Given the description of an element on the screen output the (x, y) to click on. 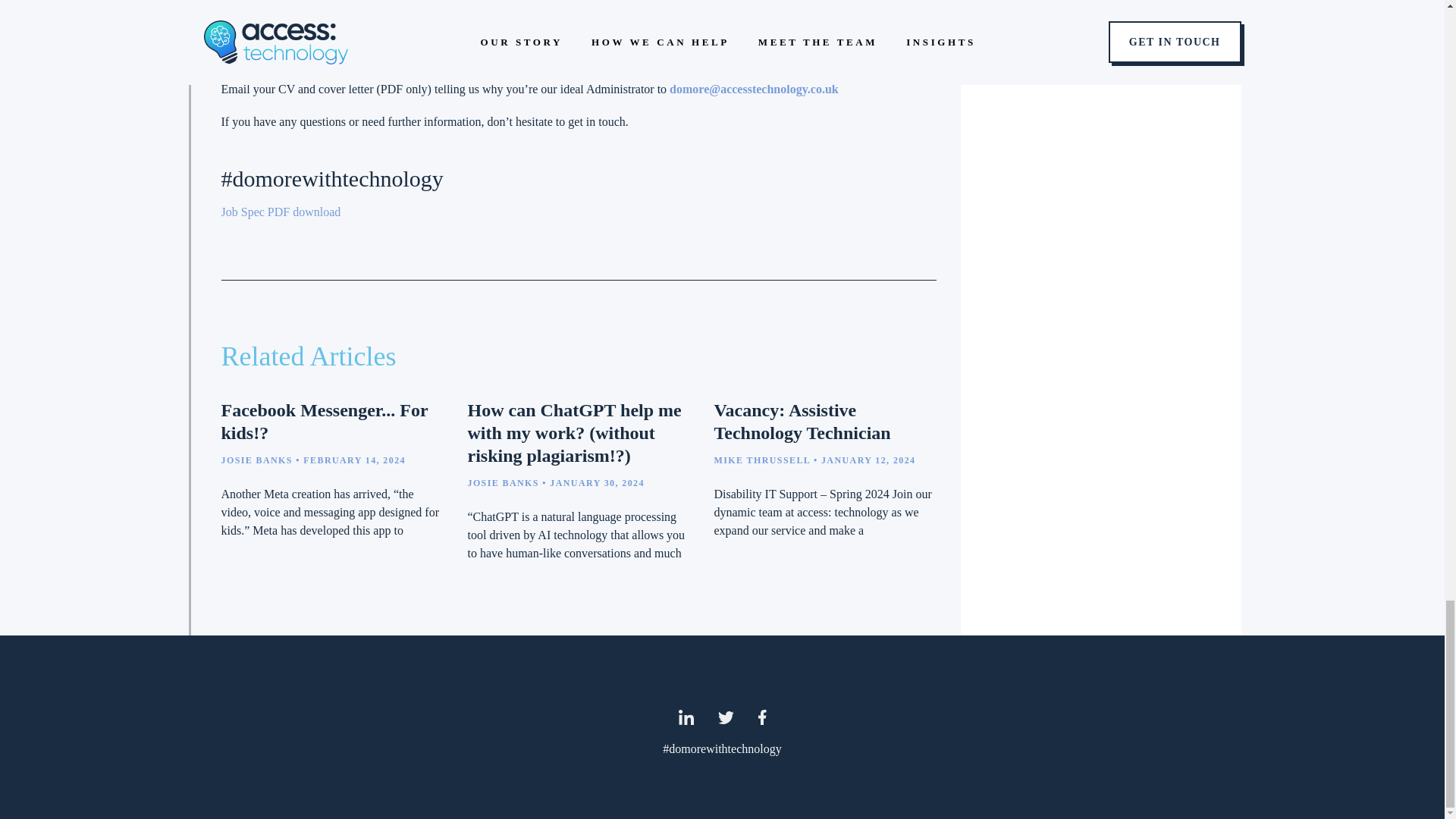
Facebook Messenger... For kids!? (324, 421)
Vacancy: Assistive Technology Technician (801, 421)
MIKE THRUSSELL (761, 460)
JOSIE BANKS (256, 460)
Job Spec PDF download (280, 211)
JOSIE BANKS (502, 482)
